Given the description of an element on the screen output the (x, y) to click on. 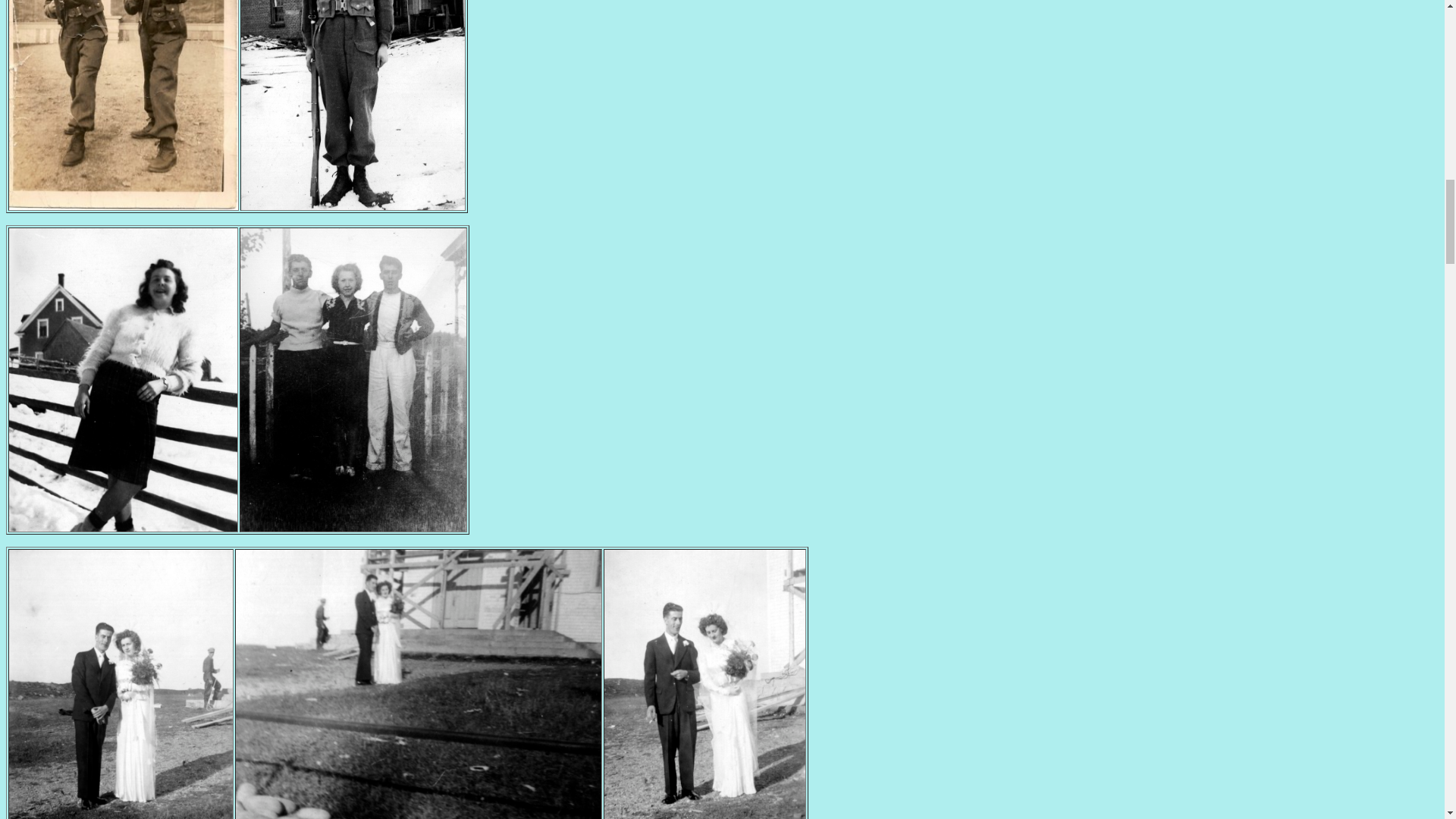
Ethel's sister Rita, with two others. (352, 526)
Herman Burke. (352, 205)
Ethel Landry. (122, 526)
